Given the description of an element on the screen output the (x, y) to click on. 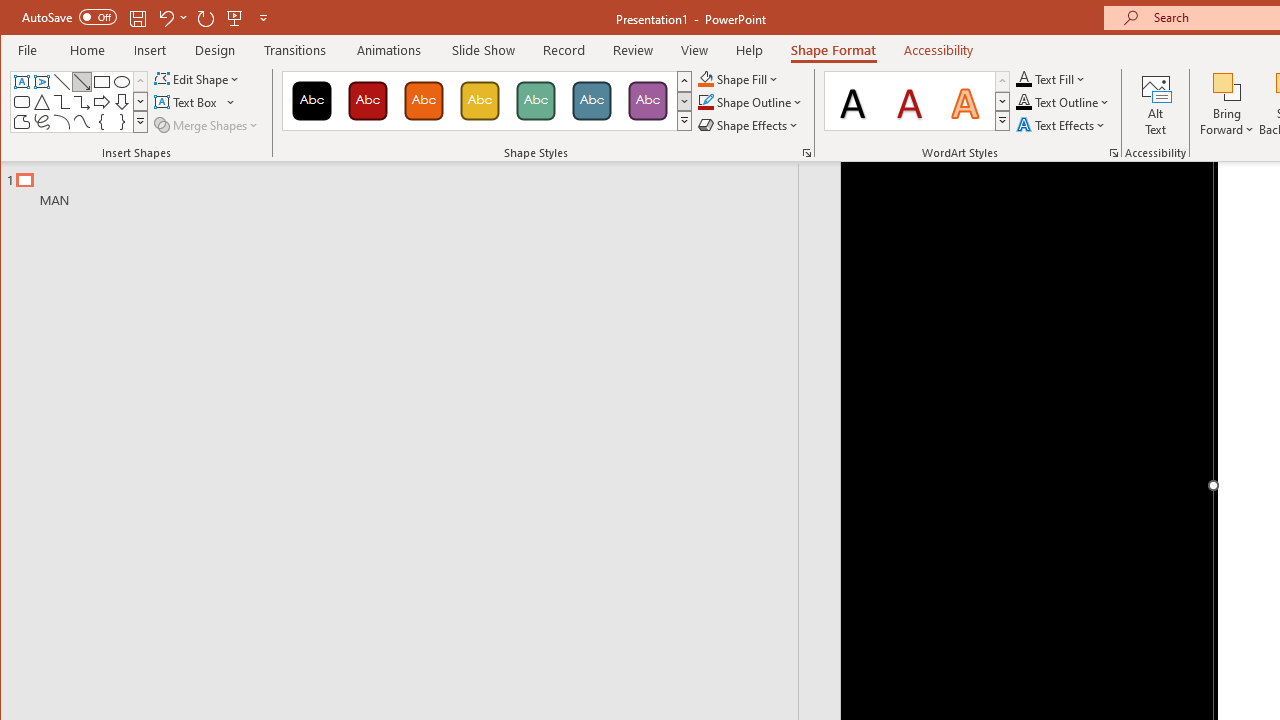
Connector: Elbow Arrow (81, 102)
Fill: Dark Red, Accent color 1; Shadow (909, 100)
Colored Fill - Dark Red, Accent 1 (367, 100)
Freeform: Shape (21, 121)
